Given the description of an element on the screen output the (x, y) to click on. 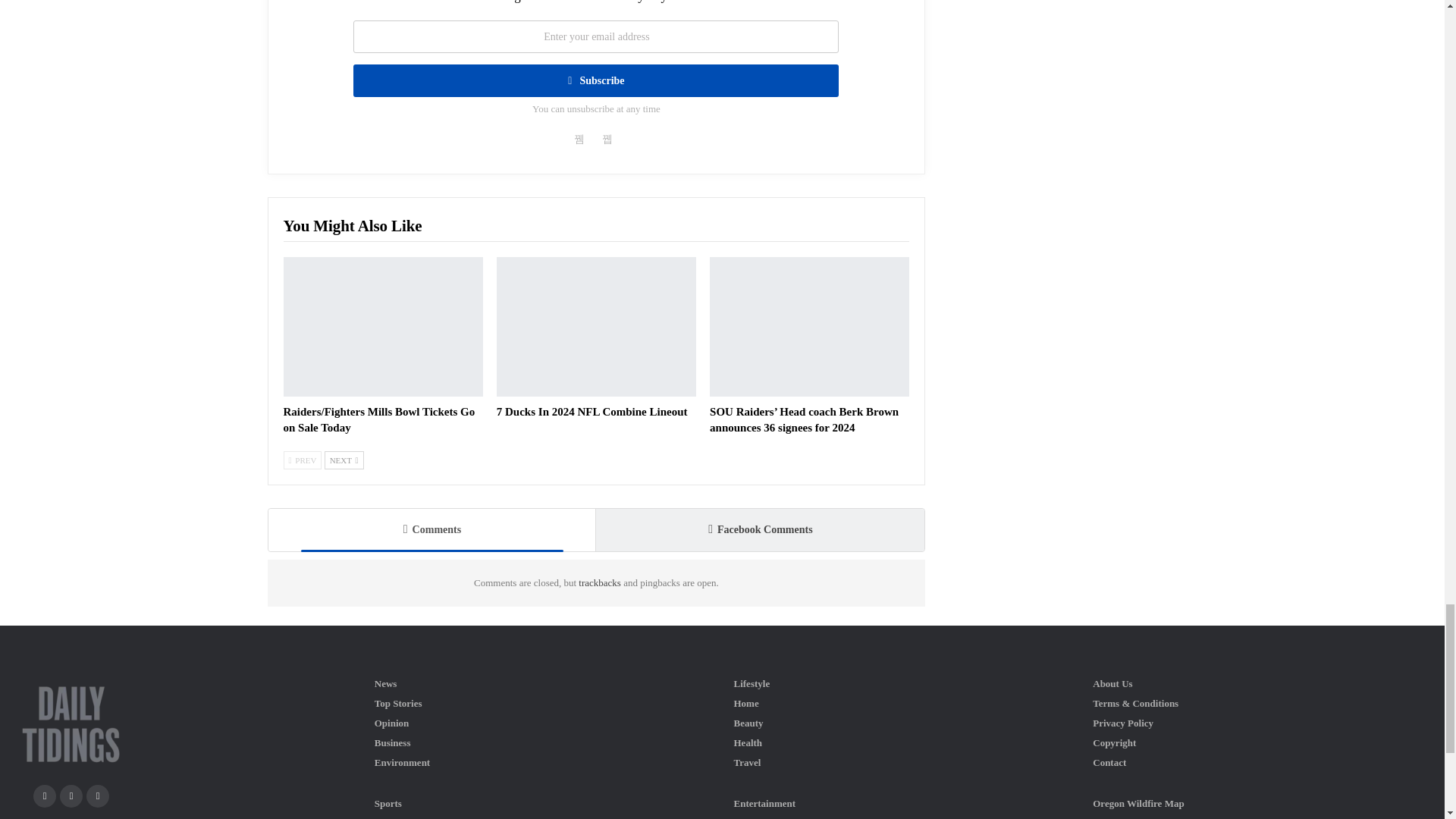
7 Ducks In 2024 NFL Combine Lineout (595, 326)
7 Ducks In 2024 NFL Combine Lineout (591, 411)
Previous (302, 460)
Next (344, 460)
